Given the description of an element on the screen output the (x, y) to click on. 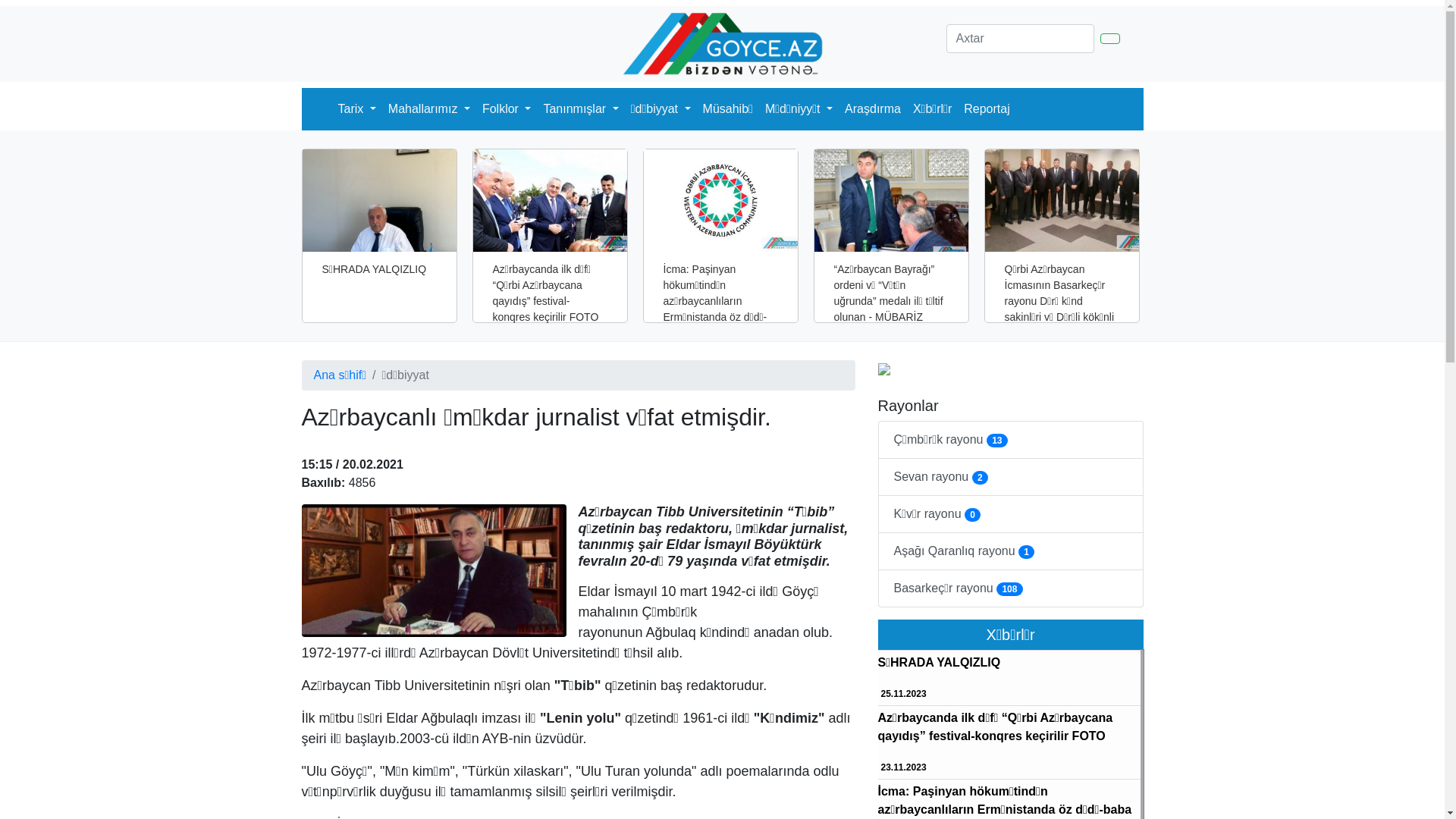
Reportaj Element type: text (986, 109)
Sevan rayonu 2 Element type: text (1010, 476)
Tarix Element type: text (357, 109)
Folklor Element type: text (506, 109)
(current) Element type: text (326, 100)
